Given the description of an element on the screen output the (x, y) to click on. 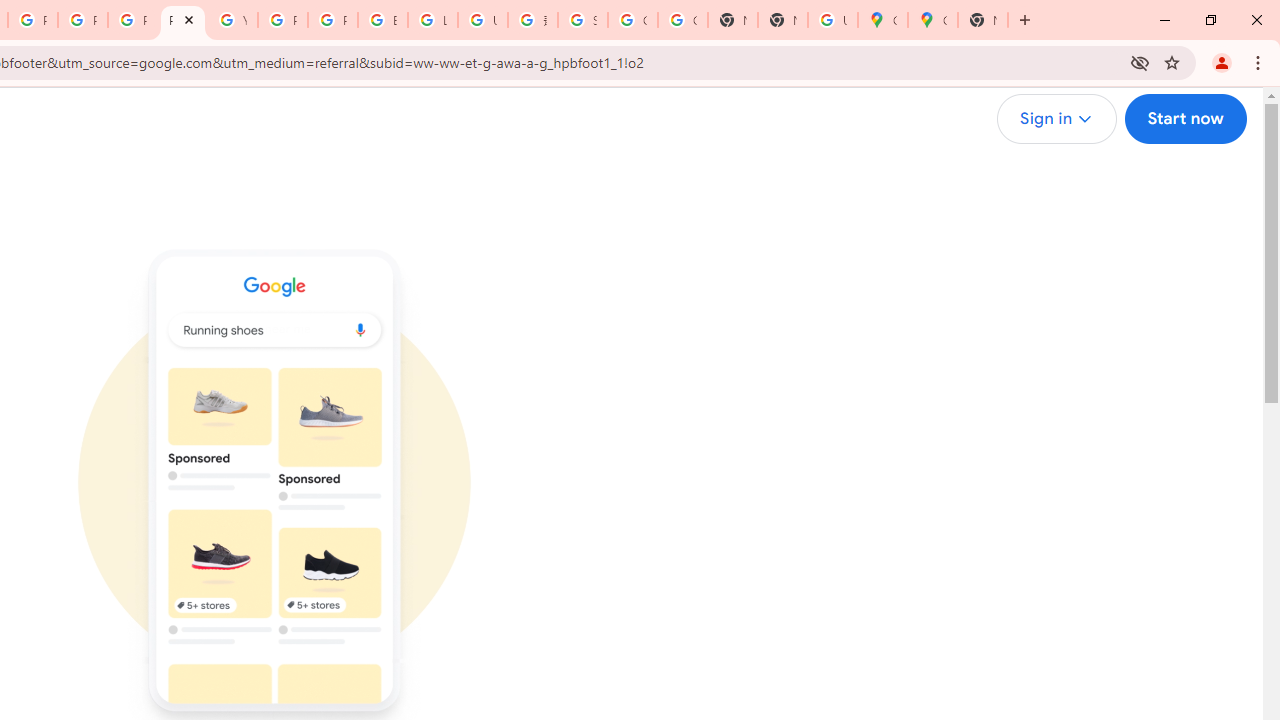
YouTube (232, 20)
Start now (1184, 119)
Sign in - Google Accounts (582, 20)
New Tab (982, 20)
Use Google Maps in Space - Google Maps Help (832, 20)
Privacy Help Center - Policies Help (82, 20)
